Given the description of an element on the screen output the (x, y) to click on. 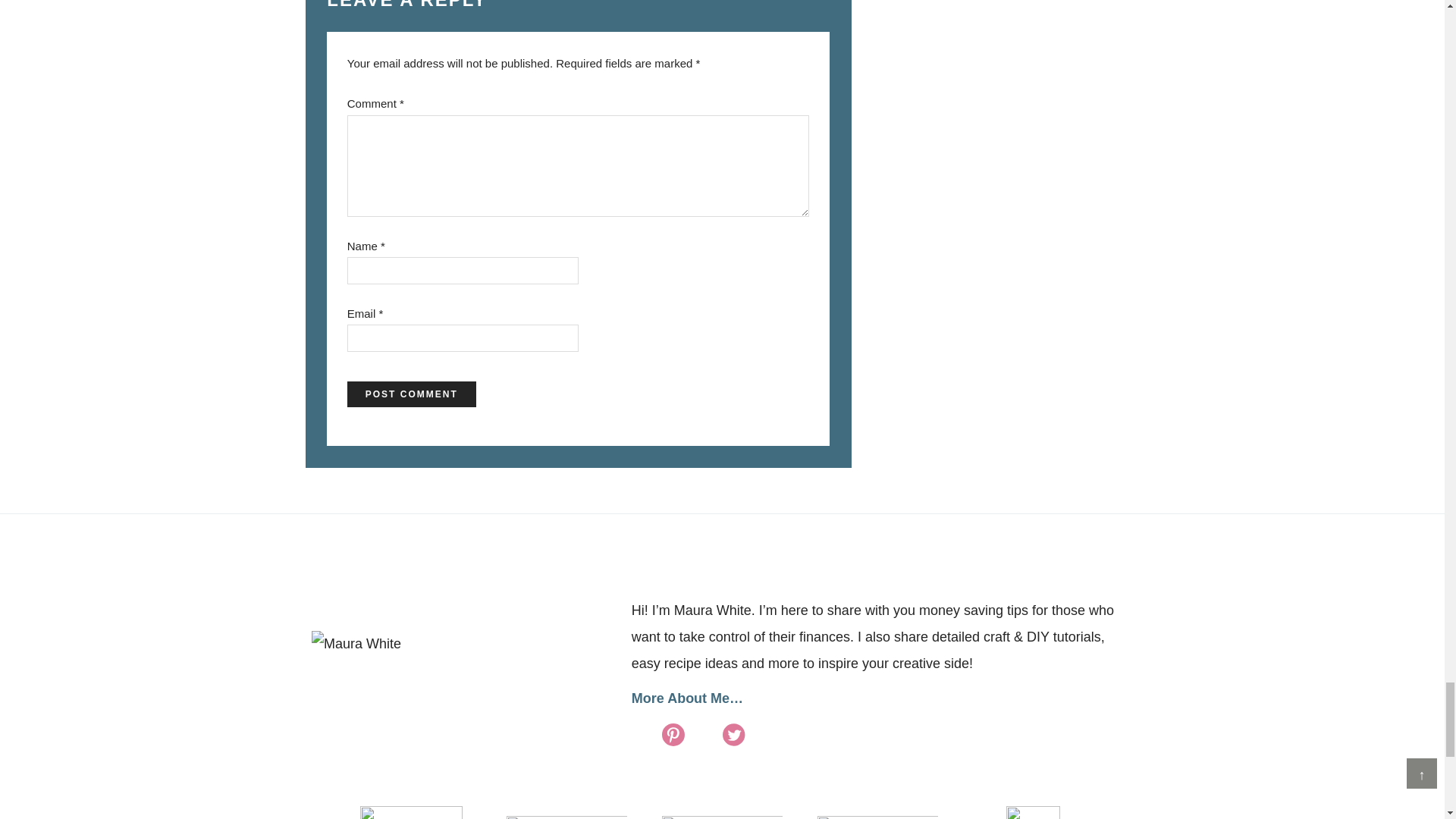
Post Comment (411, 394)
